Given the description of an element on the screen output the (x, y) to click on. 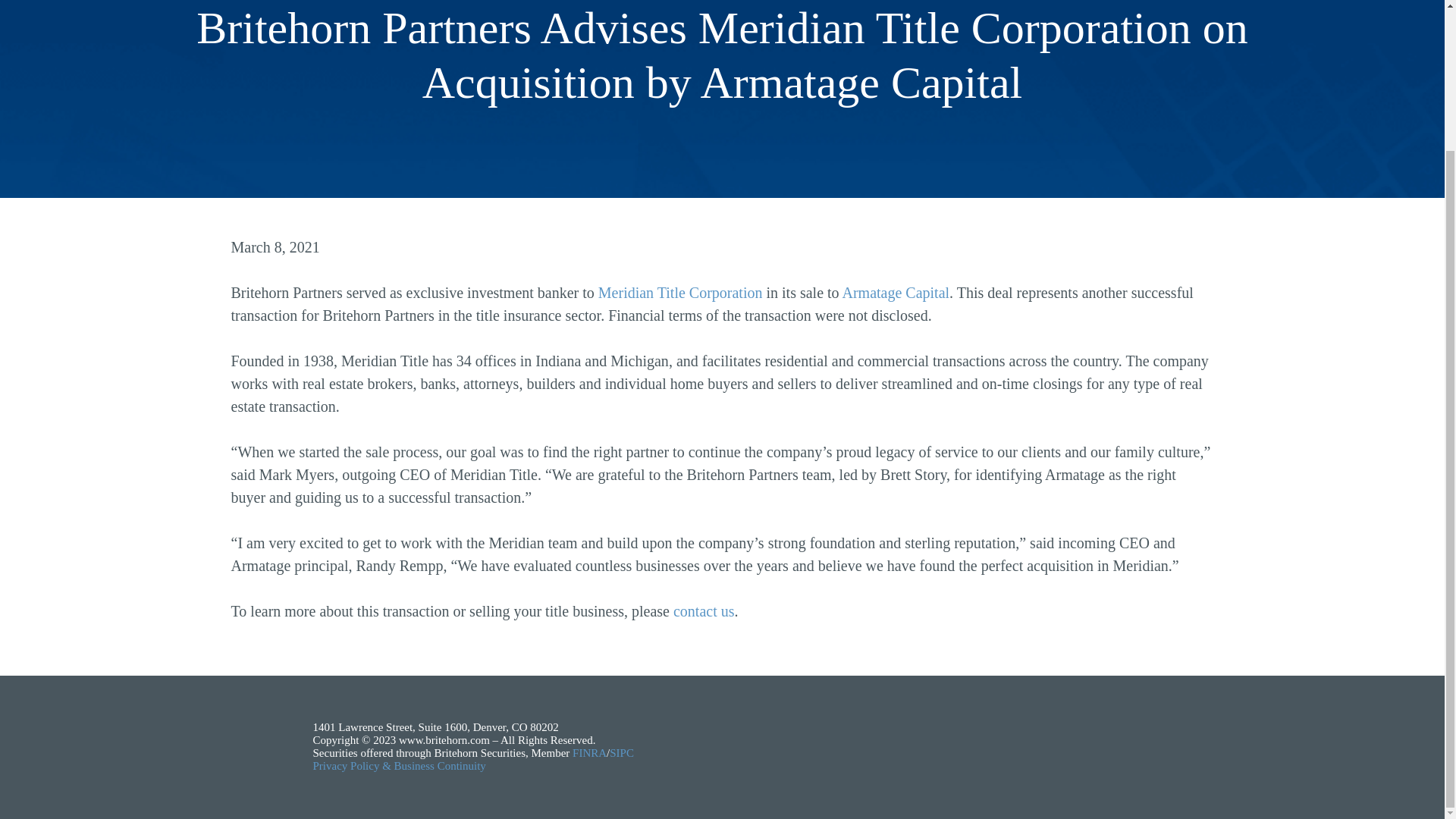
contact us (703, 610)
Meridian Title Corporation (680, 292)
Armatage Capital (895, 292)
FINRA (589, 752)
SIPC (621, 752)
